Given the description of an element on the screen output the (x, y) to click on. 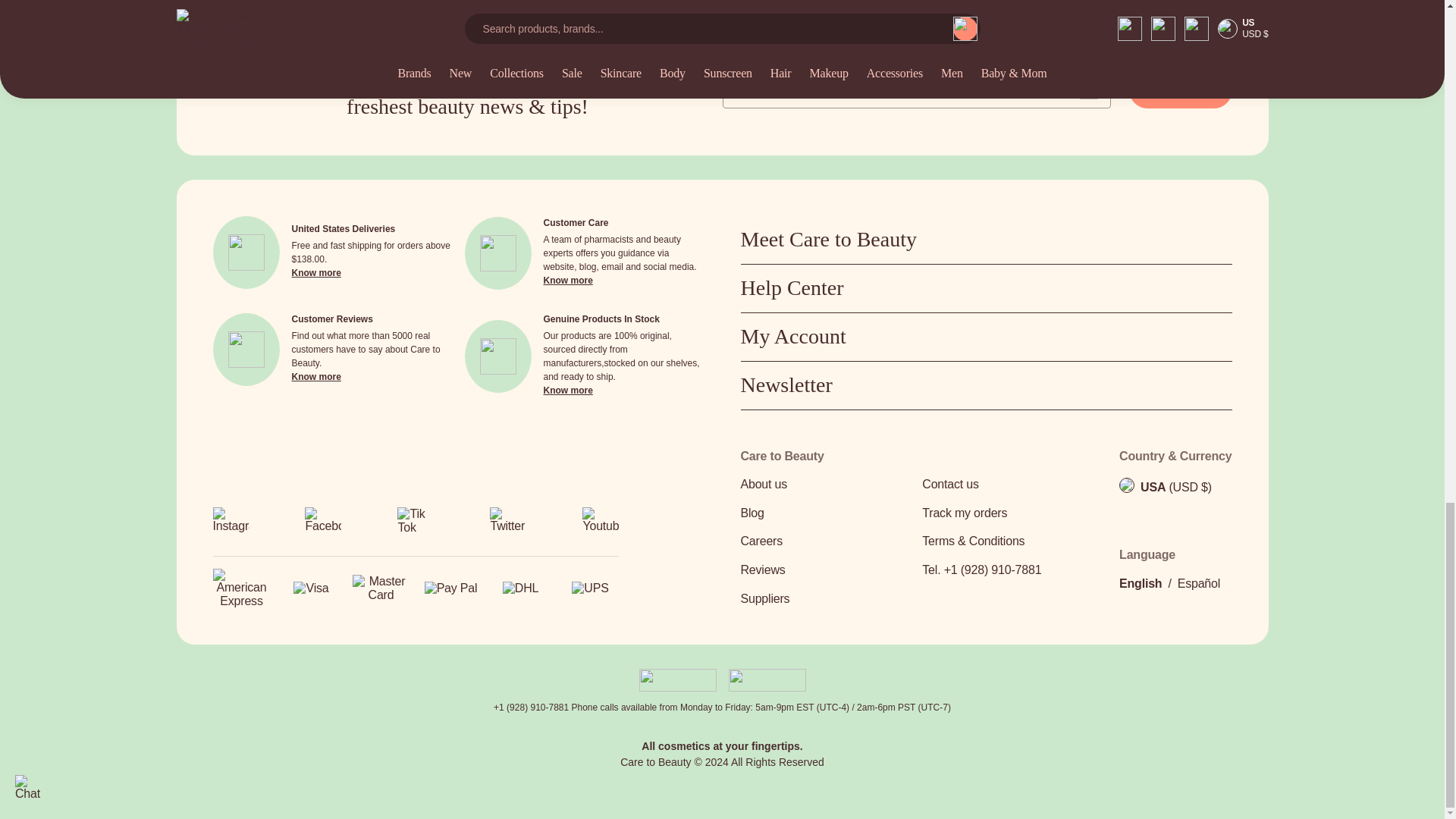
Contact us (1007, 484)
Help Center (985, 288)
Blog (825, 513)
Newsletter (985, 385)
Instagram (230, 519)
Reviews (825, 569)
Instagram (230, 524)
My Account (985, 336)
Meet Care to Beauty (985, 239)
Track my orders (1007, 513)
